Given the description of an element on the screen output the (x, y) to click on. 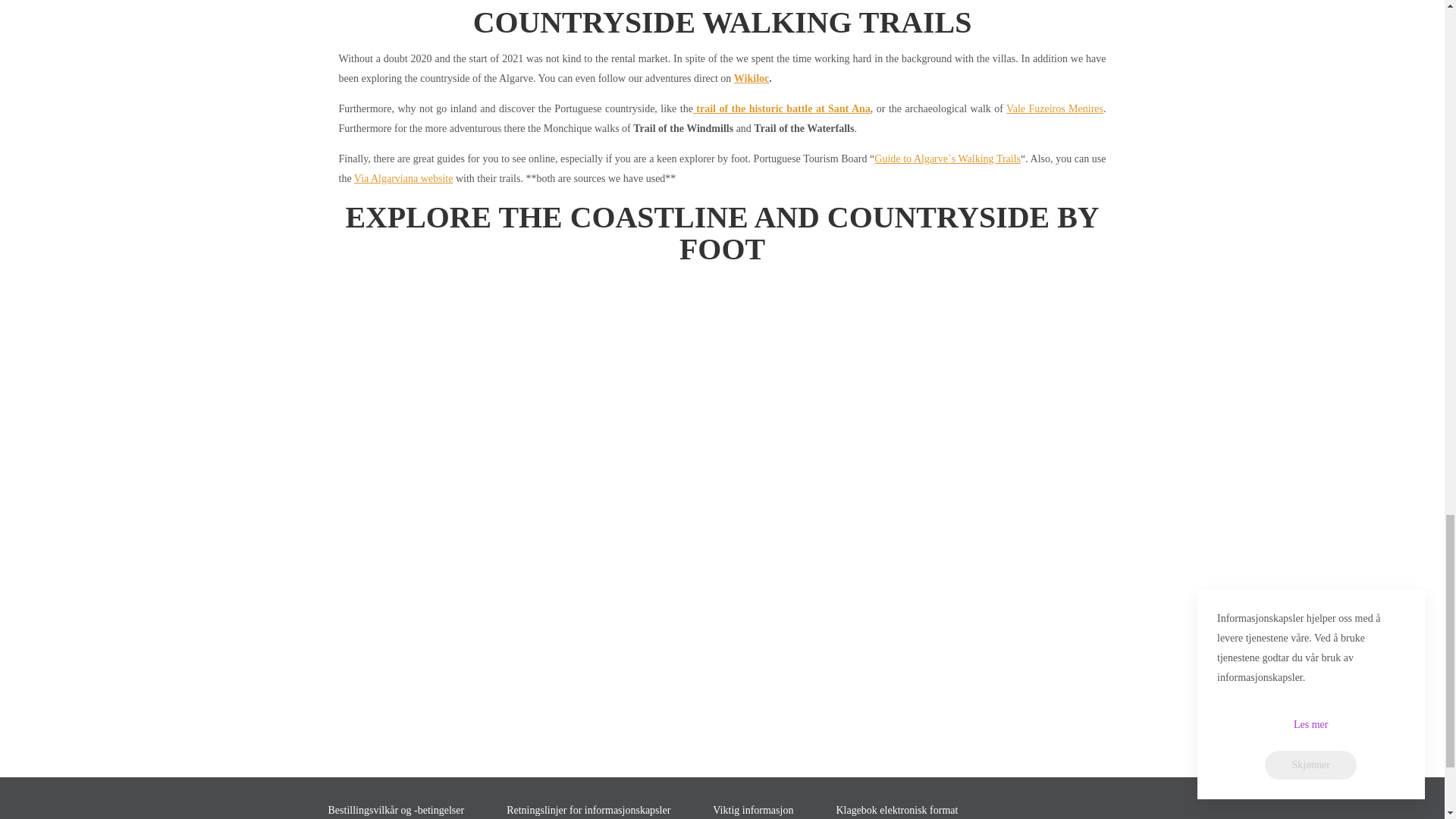
Retningslinjer for informasjonskapsler (601, 809)
Vale Fuzeiros Menires (1054, 108)
Wikiloc (750, 78)
Viktig informasjon (766, 809)
trail of the historic battle at Sant Ana (781, 108)
Via Algarviana website (402, 178)
Klagebok elektronisk format (909, 809)
